Given the description of an element on the screen output the (x, y) to click on. 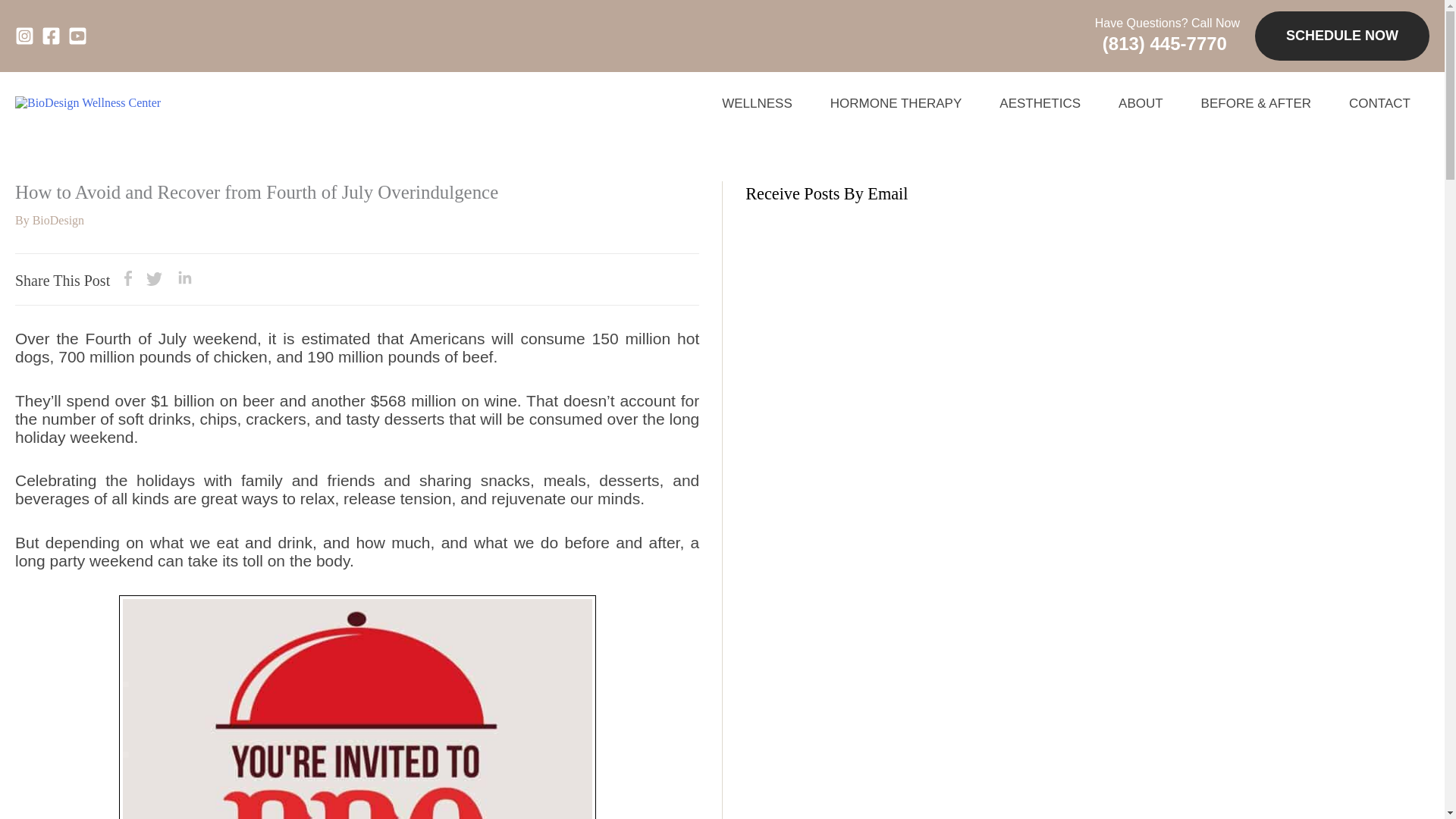
Twitter (154, 281)
ABOUT (1140, 103)
WELLNESS (756, 103)
AESTHETICS (1039, 103)
View all posts by BioDesign (58, 219)
LinkedIn (184, 281)
HORMONE THERAPY (895, 103)
SCHEDULE NOW (1342, 35)
